Given the description of an element on the screen output the (x, y) to click on. 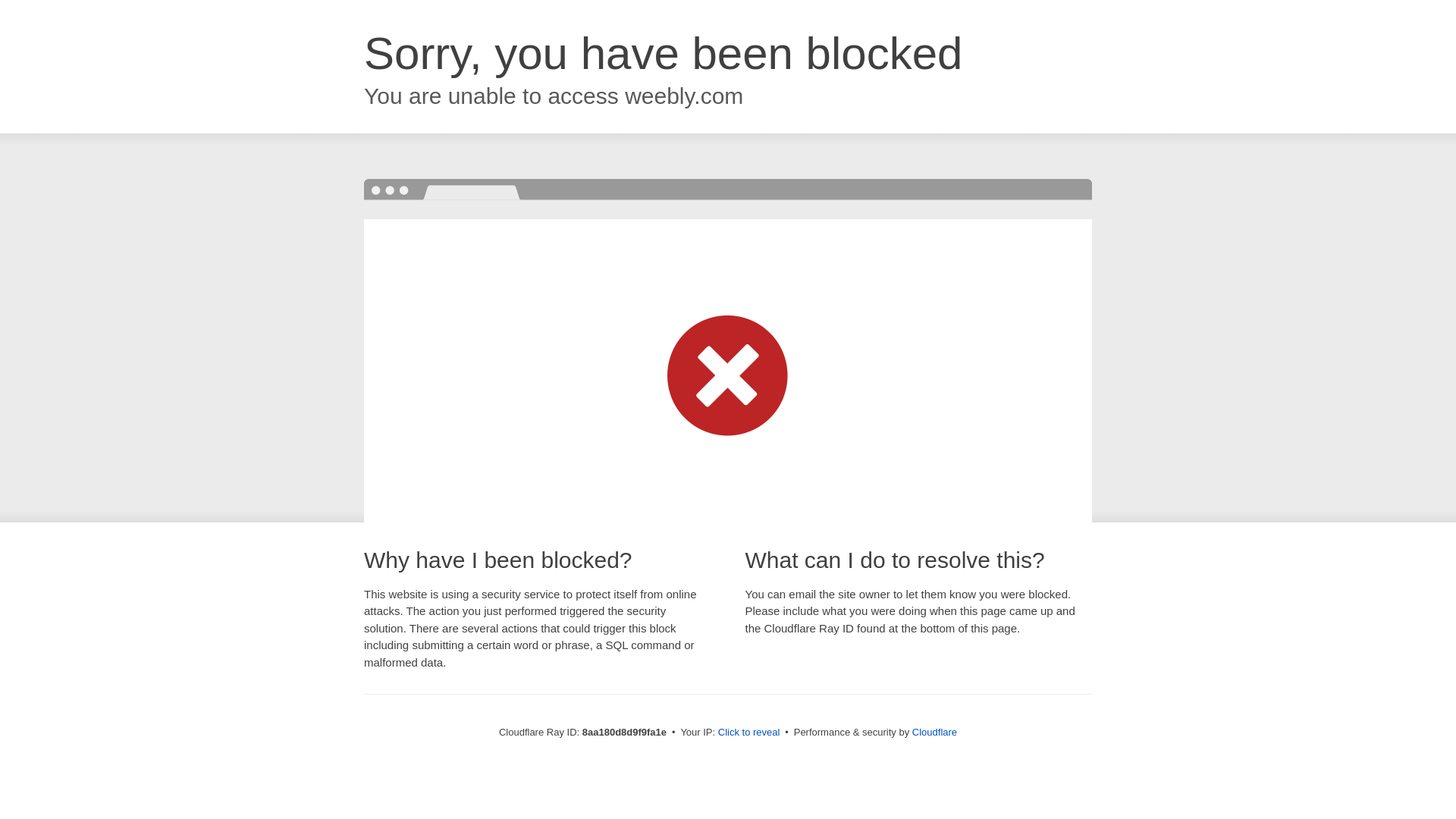
Click to reveal (748, 732)
Cloudflare (934, 731)
